Given the description of an element on the screen output the (x, y) to click on. 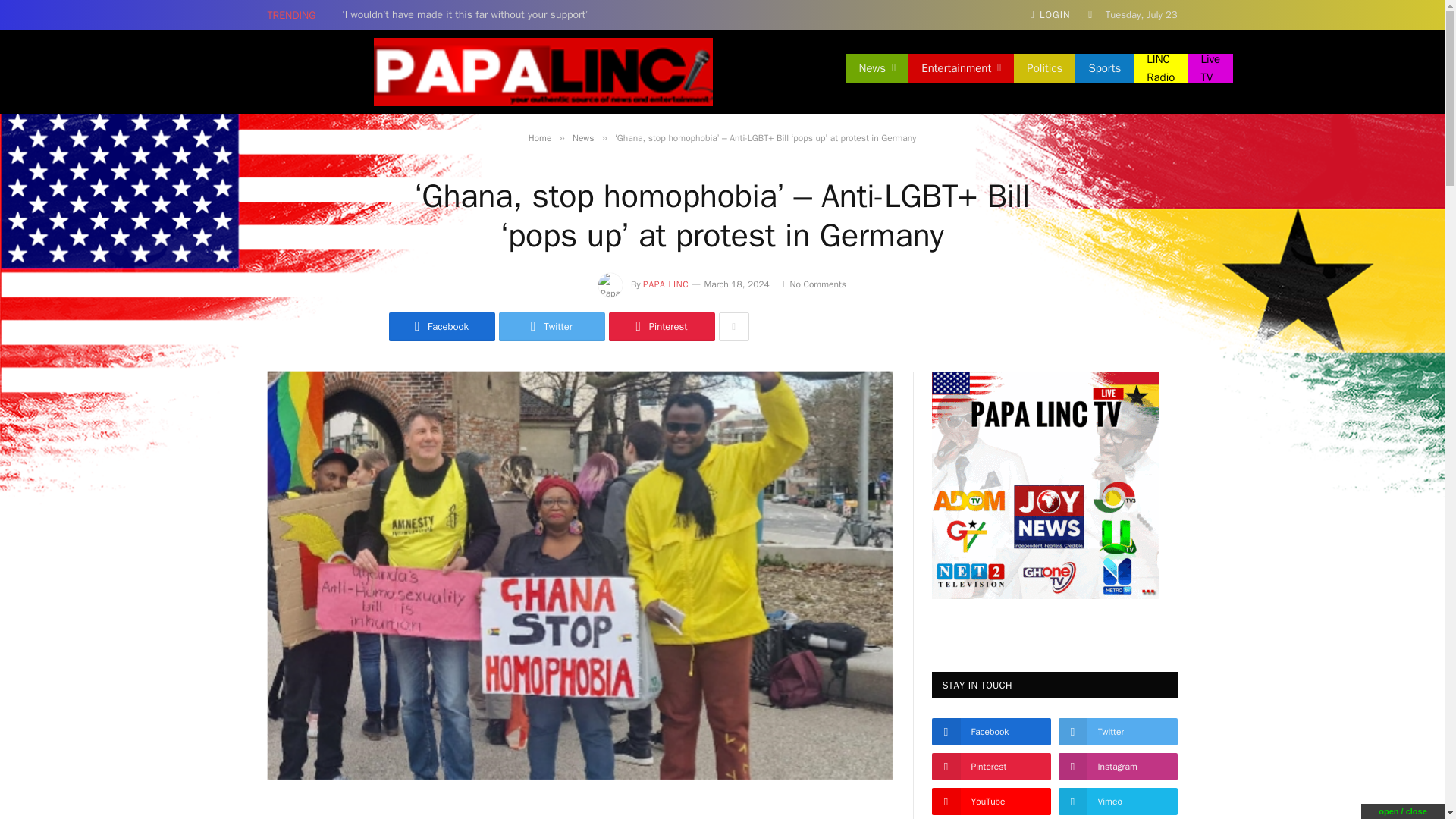
Share on Pinterest (661, 326)
Sports (1104, 68)
MC PAPA LINC (542, 71)
Search (1172, 71)
LINC Radio (1161, 68)
LOGIN (1050, 15)
Entertainment (960, 68)
Live TV (1210, 68)
Share on Facebook (441, 326)
News (876, 68)
Facebook (1109, 71)
Instagram (1147, 71)
Posts by Papa Linc (665, 284)
Politics (1044, 68)
